Given the description of an element on the screen output the (x, y) to click on. 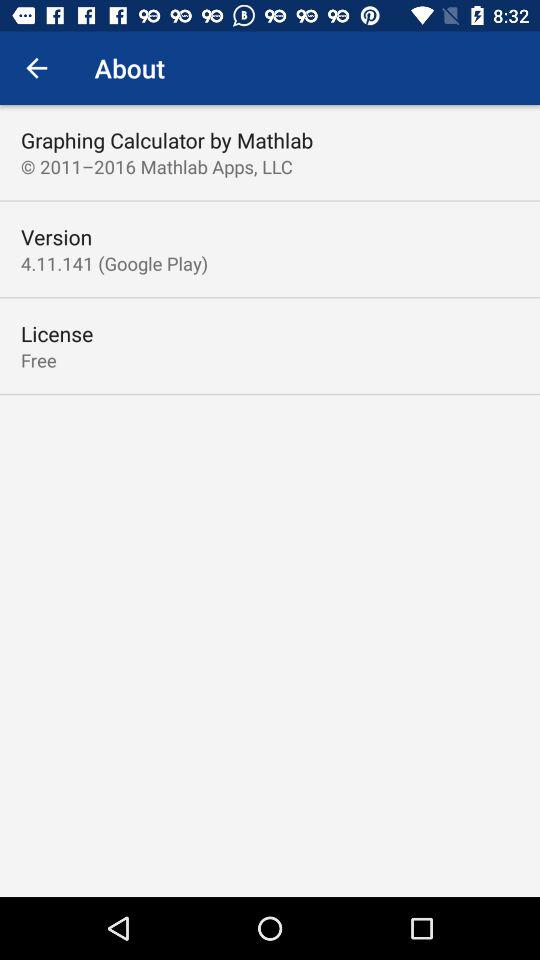
open item below the 2011 2016 mathlab (56, 236)
